Given the description of an element on the screen output the (x, y) to click on. 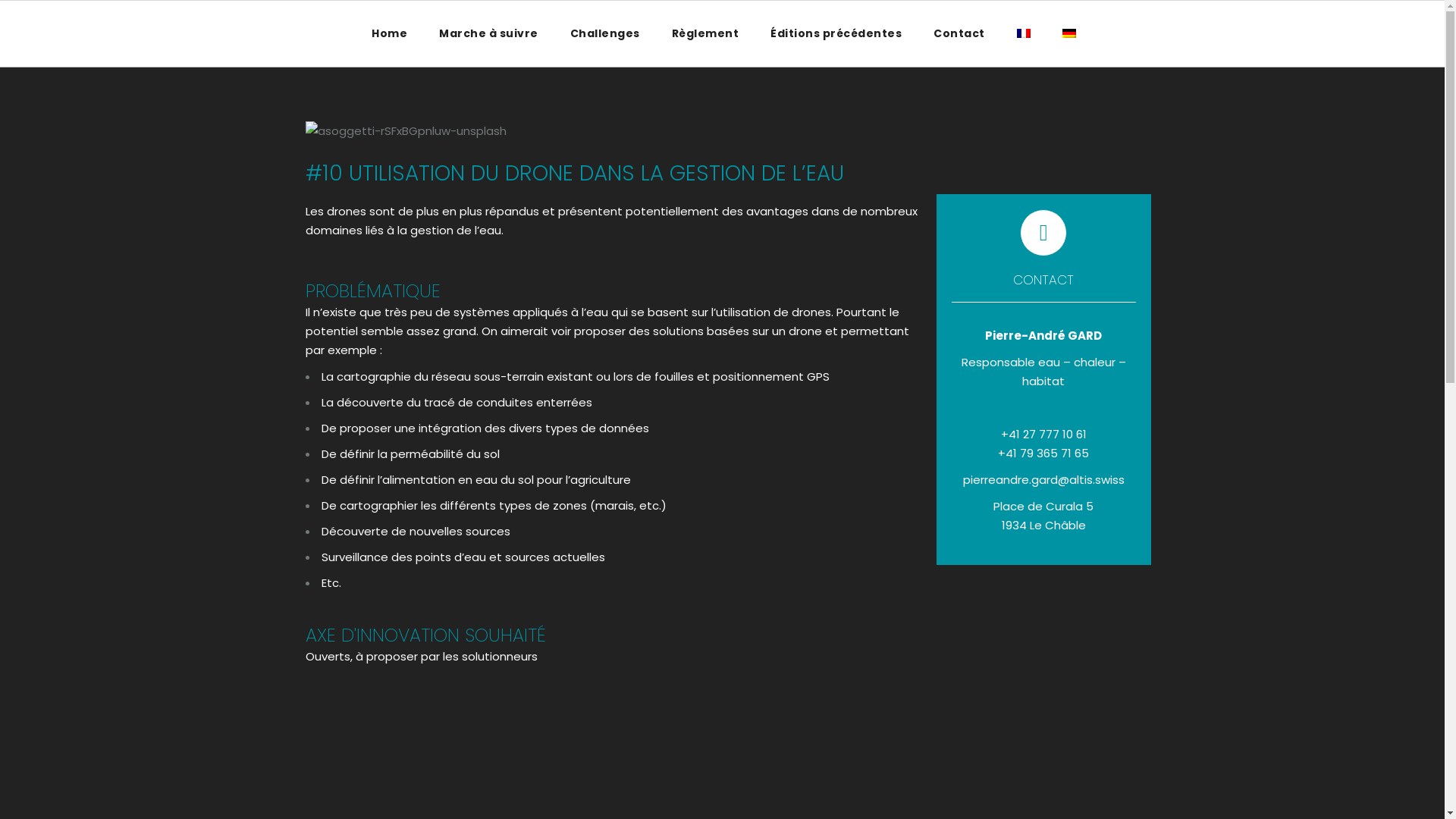
Challenges Element type: text (604, 33)
Contact Element type: text (959, 33)
Home Element type: text (389, 33)
U Element type: text (1072, 429)
pierreandre.gard@altis.swiss Element type: text (1043, 479)
